Given the description of an element on the screen output the (x, y) to click on. 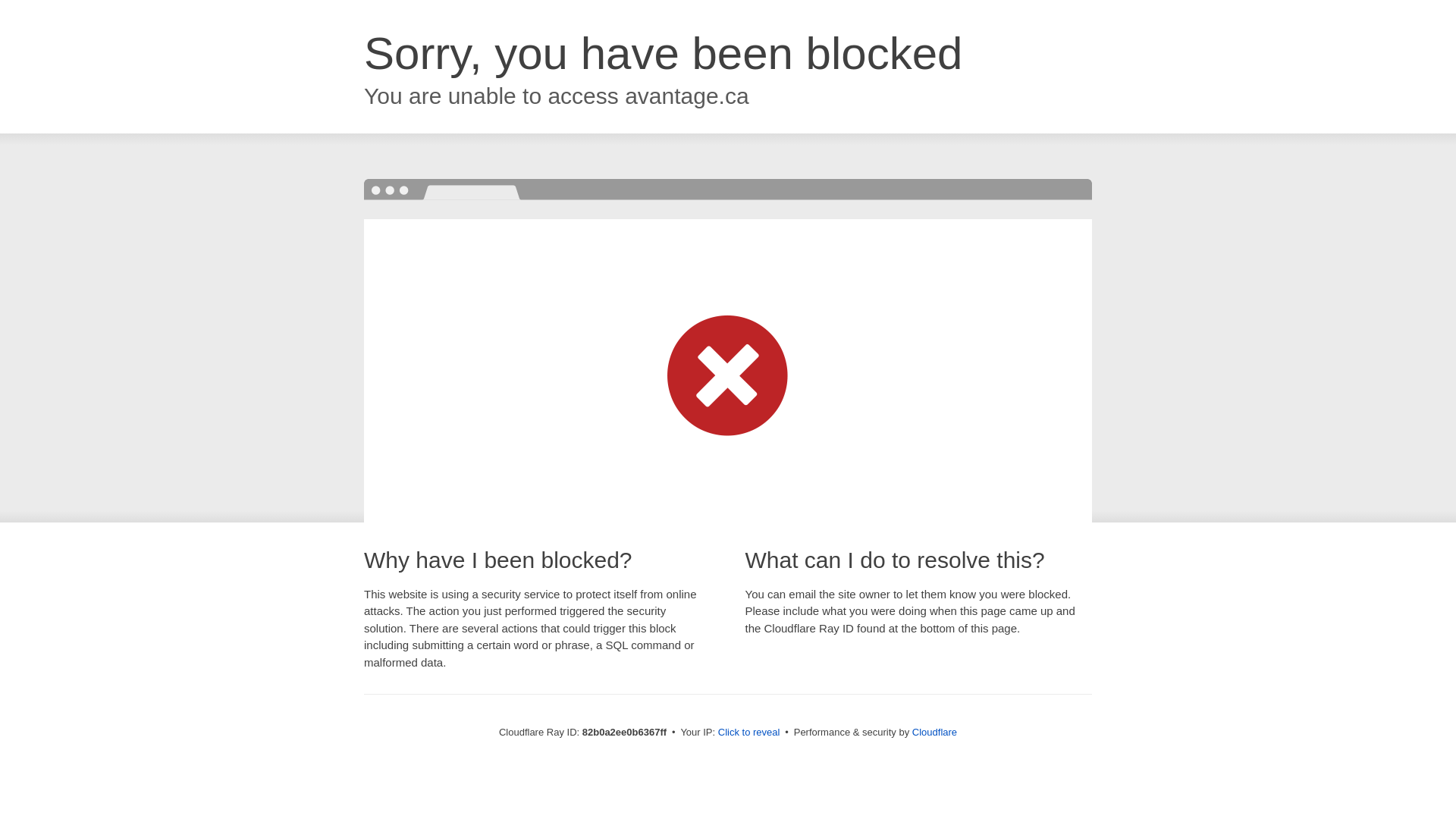
Cloudflare Element type: text (934, 731)
Click to reveal Element type: text (749, 732)
